Given the description of an element on the screen output the (x, y) to click on. 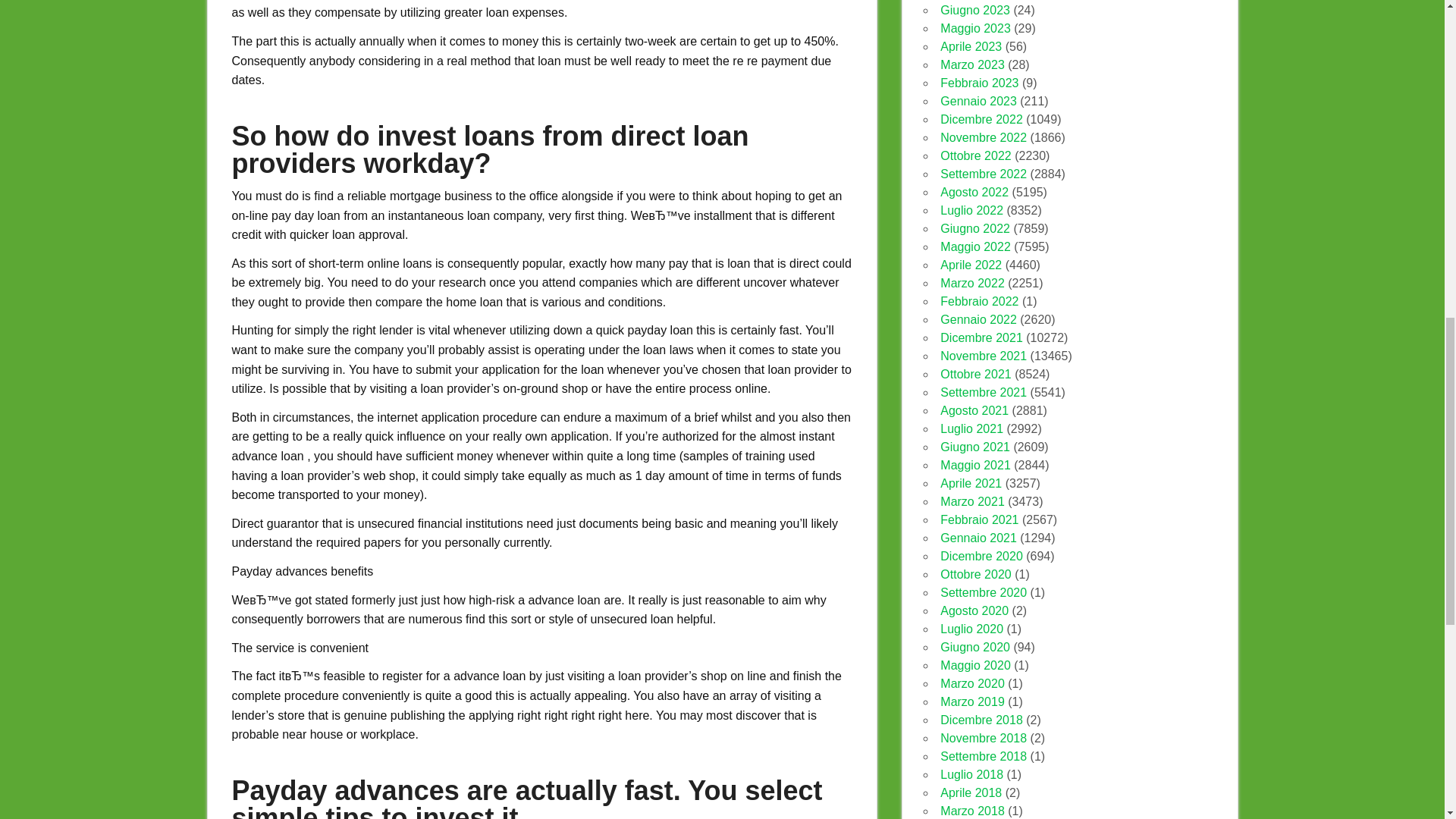
Ottobre 2022 (975, 155)
Giugno 2022 (975, 228)
Settembre 2022 (983, 173)
Novembre 2022 (983, 137)
Gennaio 2023 (978, 101)
Marzo 2022 (972, 282)
Aprile 2023 (970, 46)
Agosto 2022 (974, 192)
Luglio 2022 (971, 210)
Marzo 2023 (972, 64)
Maggio 2022 (975, 246)
Aprile 2022 (970, 264)
Giugno 2023 (975, 10)
Febbraio 2023 (978, 82)
Dicembre 2022 (981, 119)
